Given the description of an element on the screen output the (x, y) to click on. 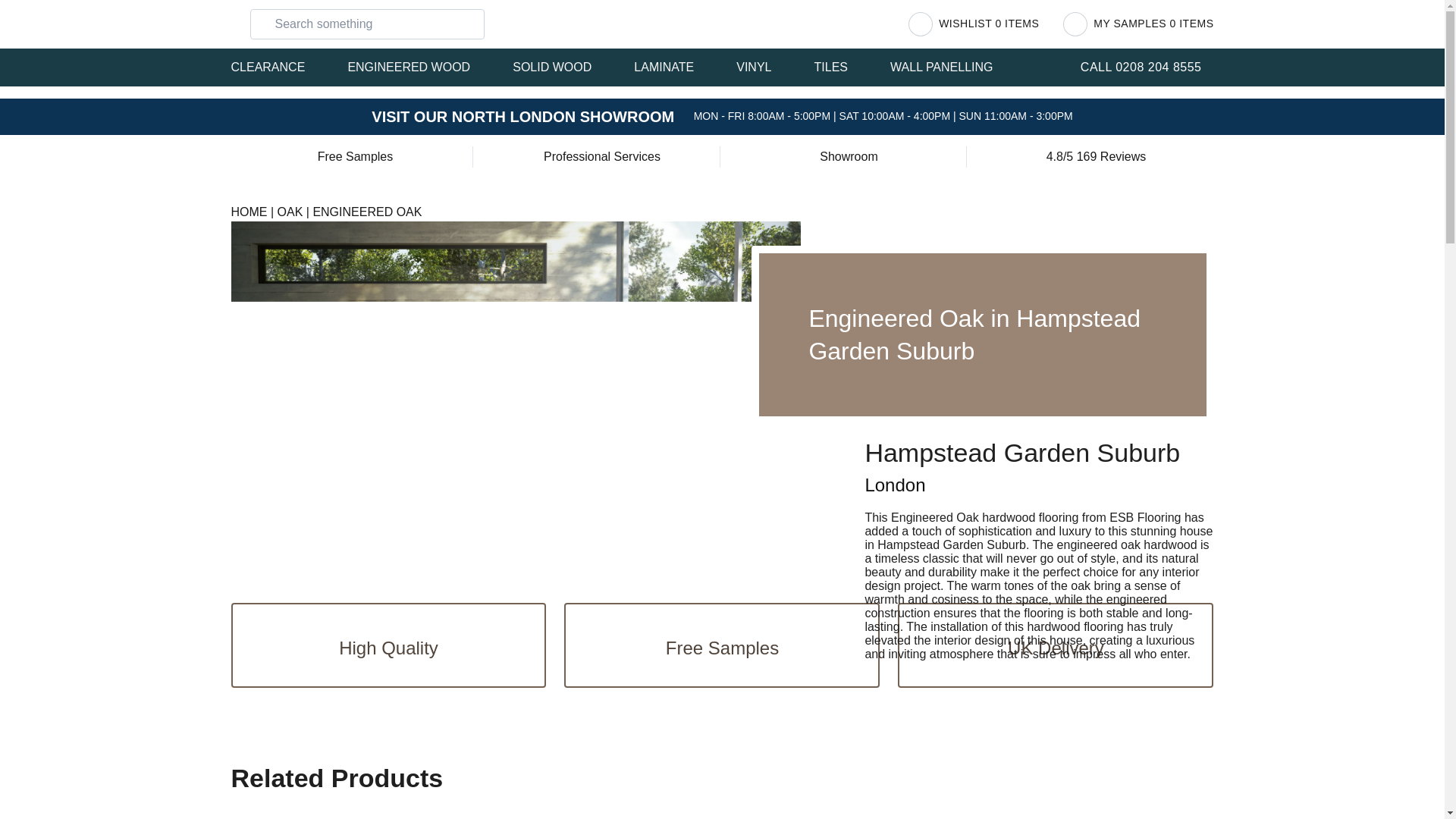
WISHLIST 0 ITEMS (973, 24)
CLEARANCE (278, 67)
Go to ESB Flooring. (248, 211)
MY SAMPLES 0 ITEMS (1137, 24)
Go to the Oak Species archives. (290, 211)
SOLID WOOD (562, 67)
ENGINEERED WOOD (419, 67)
